Given the description of an element on the screen output the (x, y) to click on. 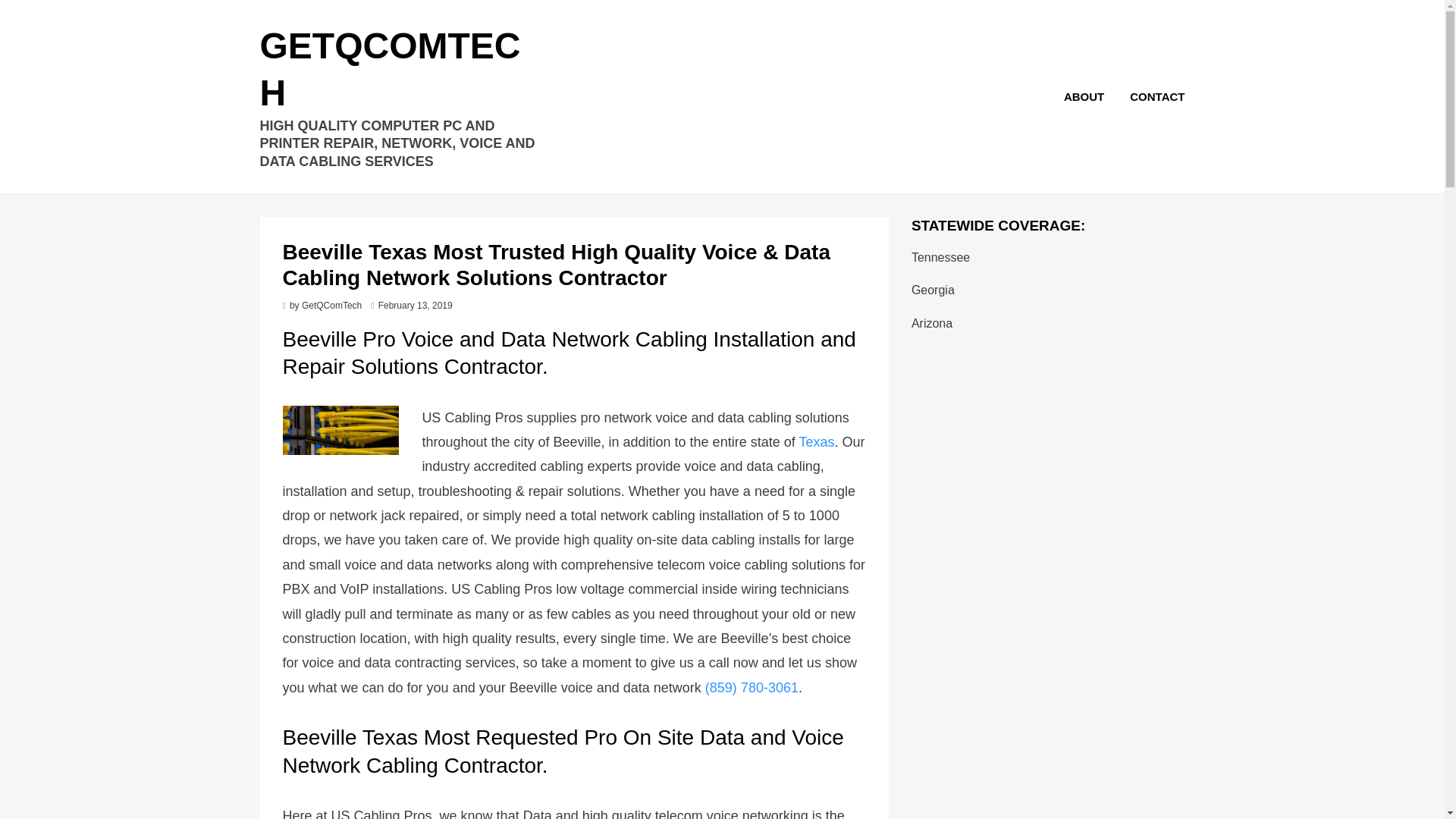
Arizona (931, 323)
GETQCOMTECH (389, 69)
ABOUT (1083, 96)
Texas (815, 441)
Georgia (933, 289)
February 13, 2019 (411, 305)
GetQComTech (389, 69)
CONTACT (1150, 96)
Tennessee (940, 256)
GetQComTech (331, 305)
